Given the description of an element on the screen output the (x, y) to click on. 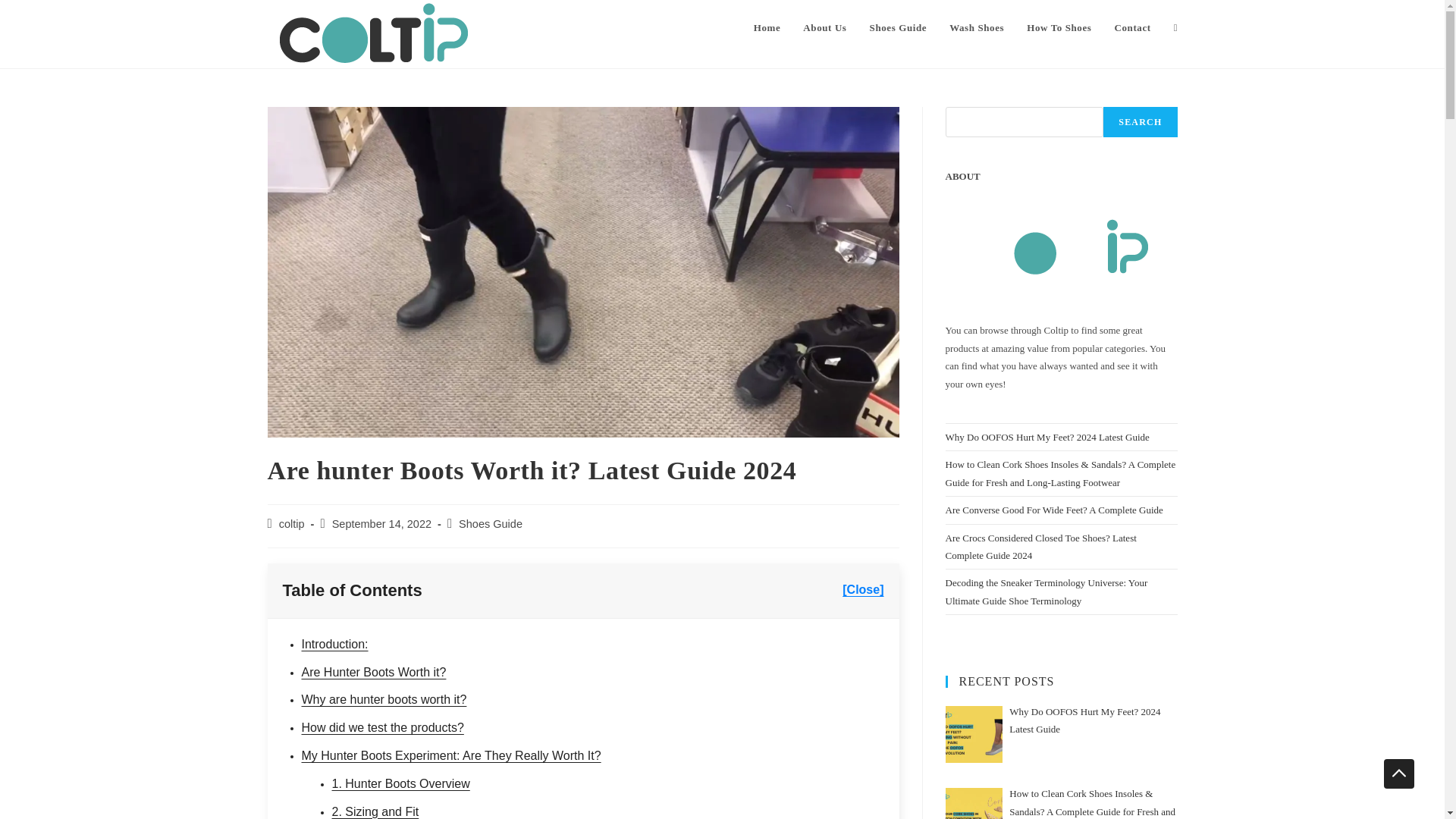
Introduction: (334, 644)
Contact (1131, 28)
How did we test the products? (382, 727)
Are Hunter Boots Worth it? (373, 671)
Shoes Guide (899, 28)
coltip (291, 523)
Posts by coltip (291, 523)
My Hunter Boots Experiment: Are They Really Worth It? (451, 755)
Shoes Guide (490, 523)
How To Shoes (1058, 28)
2. Sizing and Fit (375, 811)
Wash Shoes (975, 28)
1. Hunter Boots Overview (400, 783)
Why are hunter boots worth it? (384, 698)
Home (767, 28)
